Given the description of an element on the screen output the (x, y) to click on. 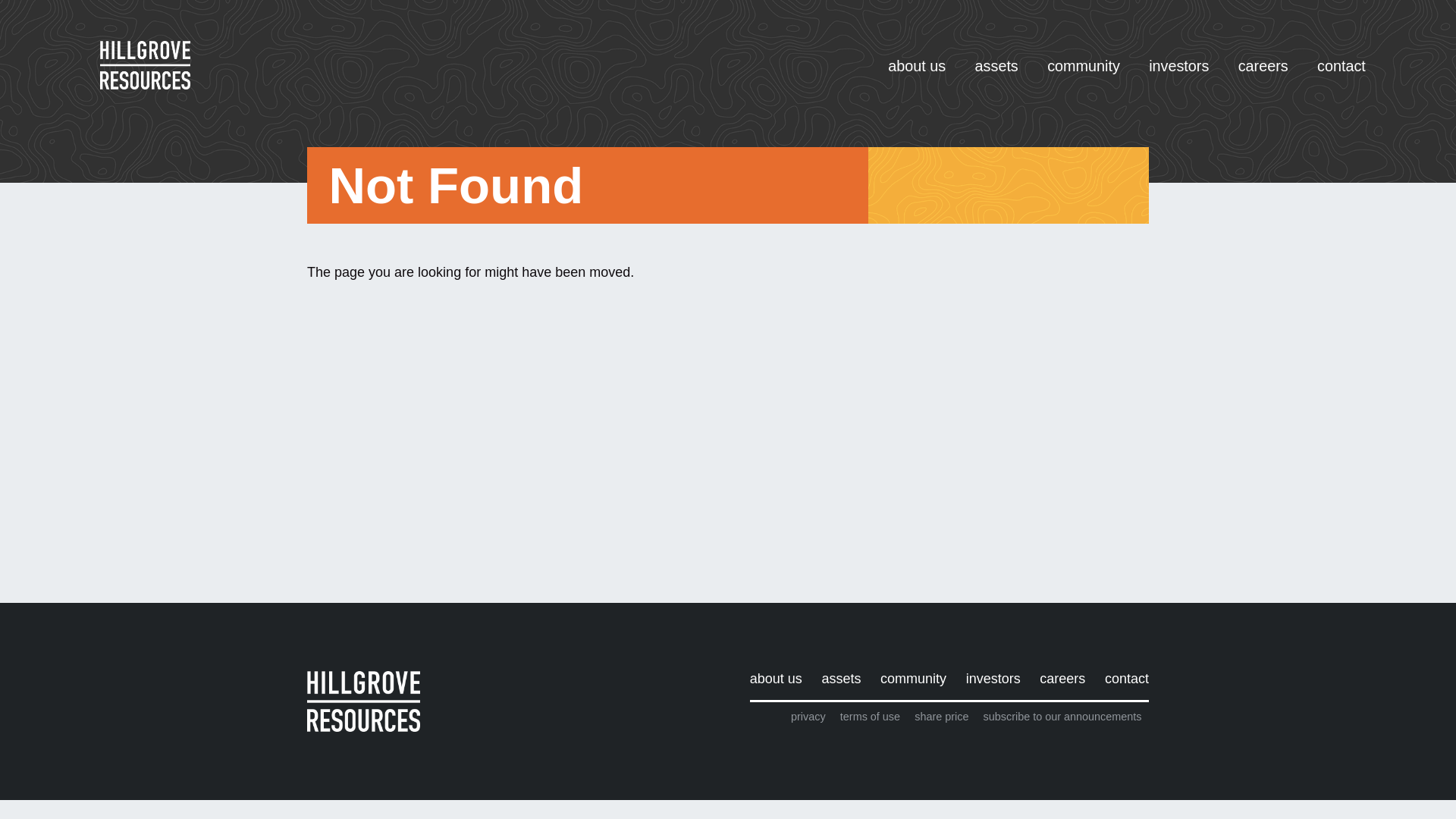
privacy Element type: text (807, 717)
terms of use Element type: text (869, 717)
careers Element type: text (1262, 73)
community Element type: text (1083, 73)
investors Element type: text (1178, 73)
share price Element type: text (941, 717)
assets Element type: text (841, 685)
subscribe to our announcements Element type: text (1061, 717)
community Element type: text (913, 685)
about us Element type: text (916, 73)
about us Element type: text (780, 685)
contact Element type: text (1341, 73)
investors Element type: text (993, 685)
careers Element type: text (1062, 685)
contact Element type: text (1121, 685)
assets Element type: text (996, 73)
